Given the description of an element on the screen output the (x, y) to click on. 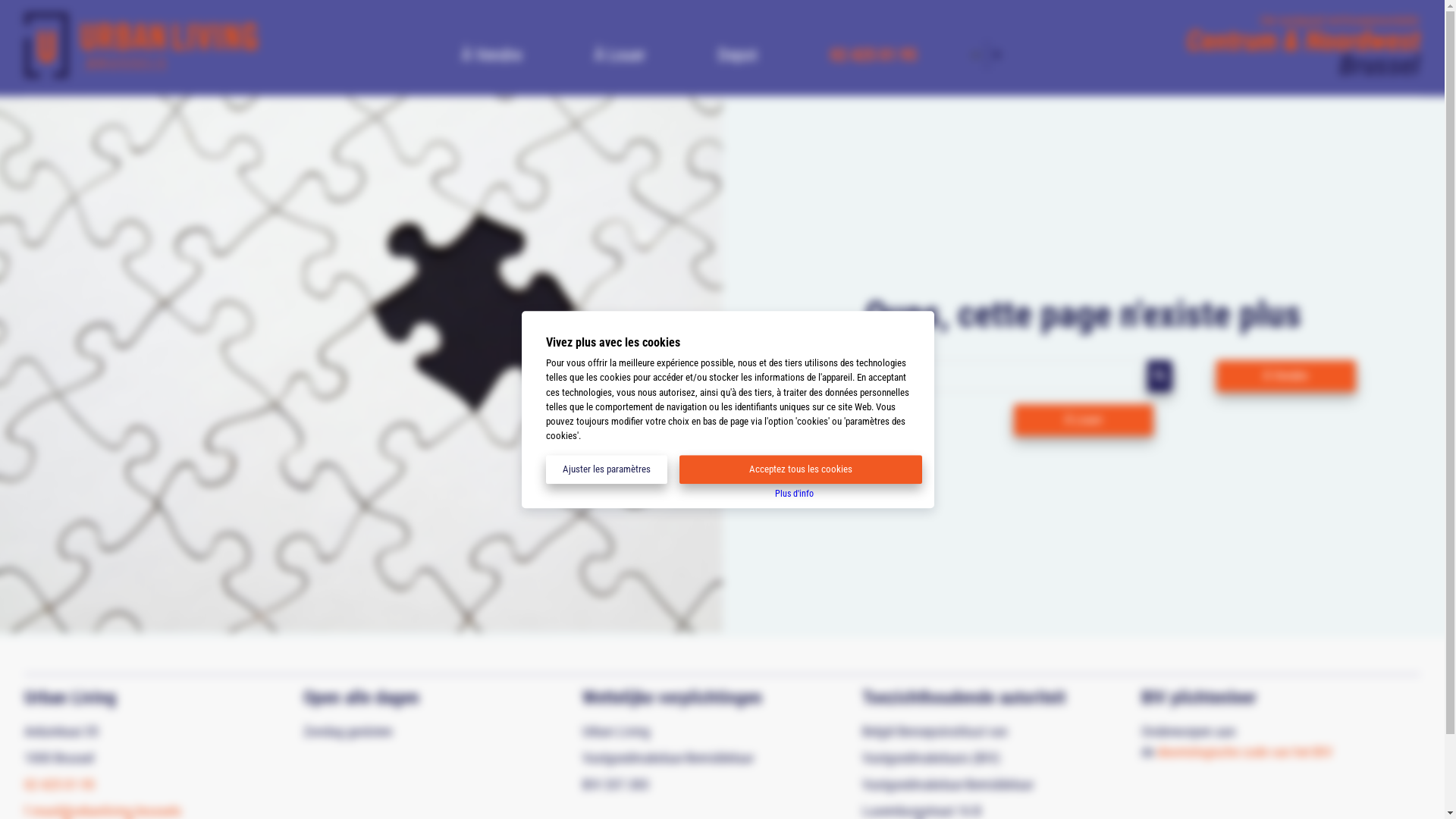
deontologische code van het BIV Element type: text (1244, 751)
nl Element type: text (975, 54)
02 425 01 95 Element type: text (59, 784)
Depot Element type: text (737, 51)
02 425 01 95 Element type: text (873, 51)
Acceptez tous les cookies Element type: text (800, 469)
Plus d'info Element type: text (794, 492)
Go to the homepage Element type: hover (140, 76)
fr Element type: text (997, 54)
